Given the description of an element on the screen output the (x, y) to click on. 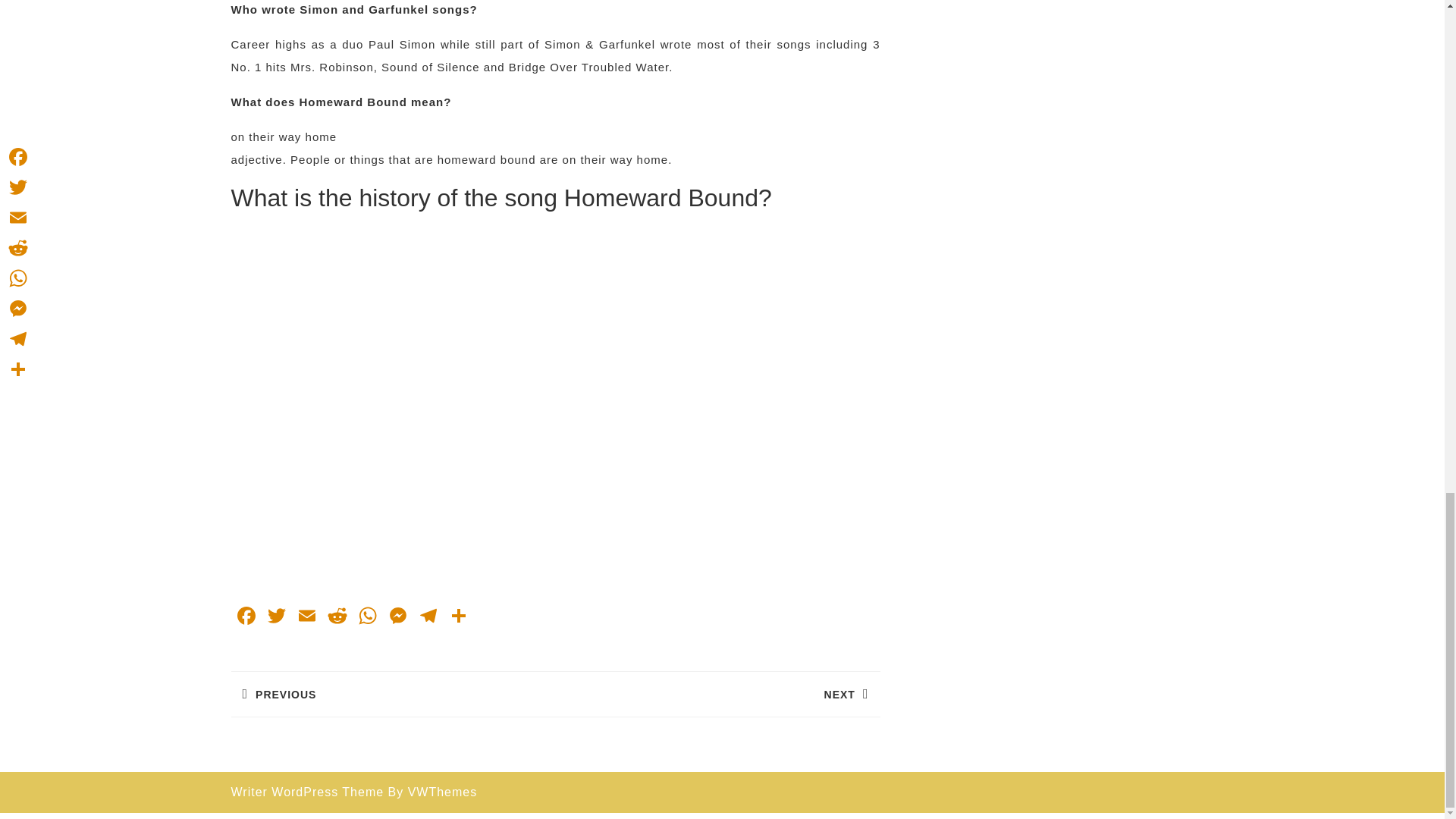
WhatsApp (366, 617)
Email (306, 617)
Telegram (427, 617)
Messenger (396, 617)
Writer WordPress Theme (307, 791)
Facebook (245, 617)
Reddit (336, 617)
Email (306, 617)
WhatsApp (366, 617)
Twitter (275, 617)
Telegram (716, 693)
Messenger (392, 693)
Facebook (427, 617)
